Given the description of an element on the screen output the (x, y) to click on. 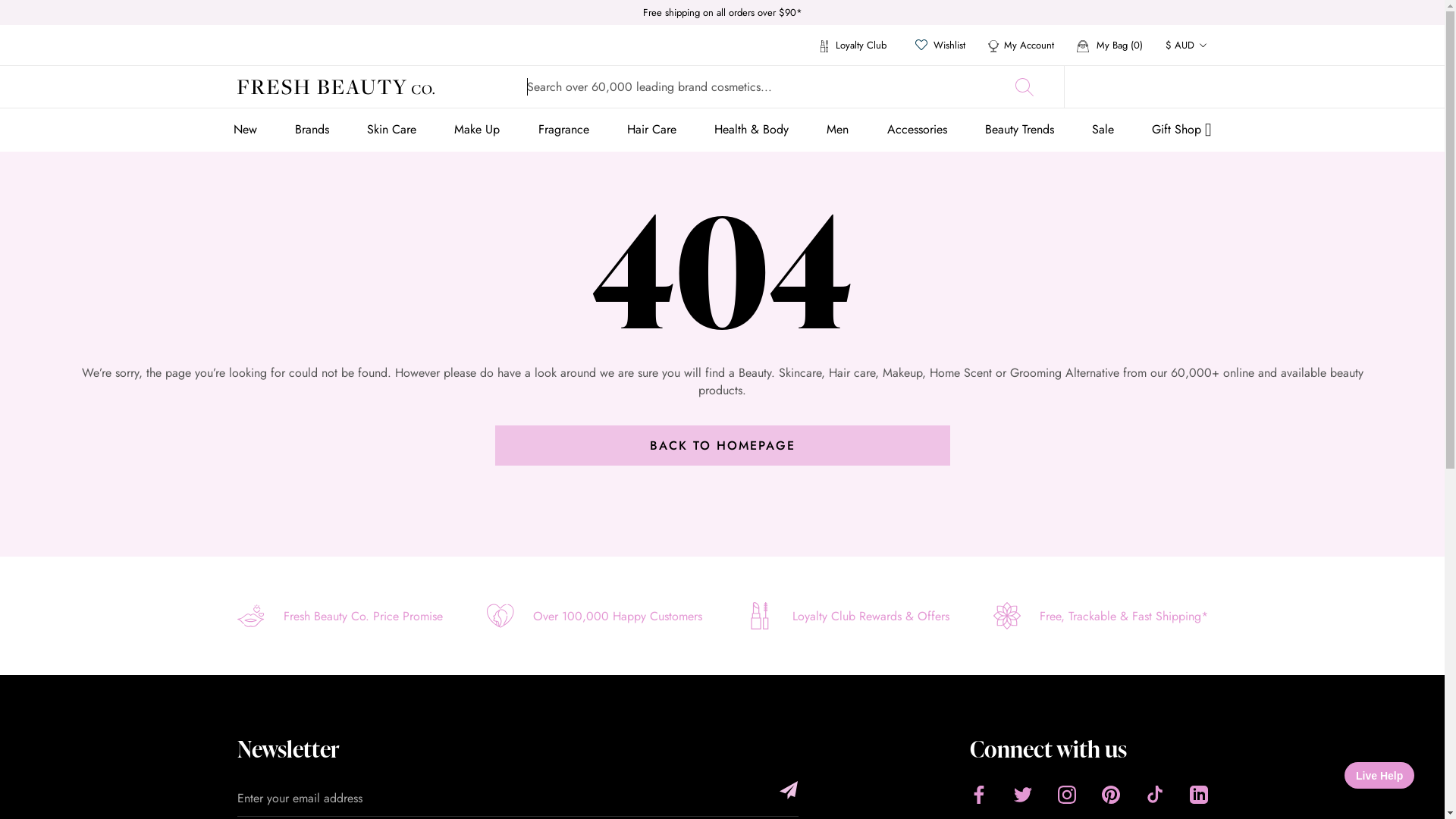
AUD Element type: text (1203, 83)
Fresh Beauty Co. Price Promise Element type: text (339, 614)
Sale
Sale Element type: text (1102, 129)
$ AUD Element type: text (1185, 44)
Free, Trackable & Fast Shipping* Element type: text (1100, 614)
Loyalty Club Element type: text (853, 44)
Wishlist Element type: text (949, 44)
Men
Men Element type: text (837, 129)
Accessories
Accessories Element type: text (917, 129)
Brands
Brands Element type: text (311, 129)
Hair Care
Hair Care Element type: text (651, 129)
Loyalty Club Rewards & Offers Element type: text (847, 614)
New
New Element type: text (245, 129)
Free shipping on all orders over $90* Element type: text (722, 12)
My Bag (0) Element type: text (1109, 44)
NZD Element type: text (1203, 143)
Skin Care
Skin Care Element type: text (391, 129)
Fragrance
Fragrance Element type: text (563, 129)
GBP Element type: text (1203, 113)
Make Up
Make Up Element type: text (476, 129)
Over 100,000 Happy Customers Element type: text (594, 614)
Beauty Trends
Beauty Trends Element type: text (1019, 129)
My Account Element type: text (1021, 44)
USD Element type: text (1203, 174)
Health & Body
Health & Body Element type: text (751, 129)
BACK TO HOMEPAGE Element type: text (721, 445)
